Given the description of an element on the screen output the (x, y) to click on. 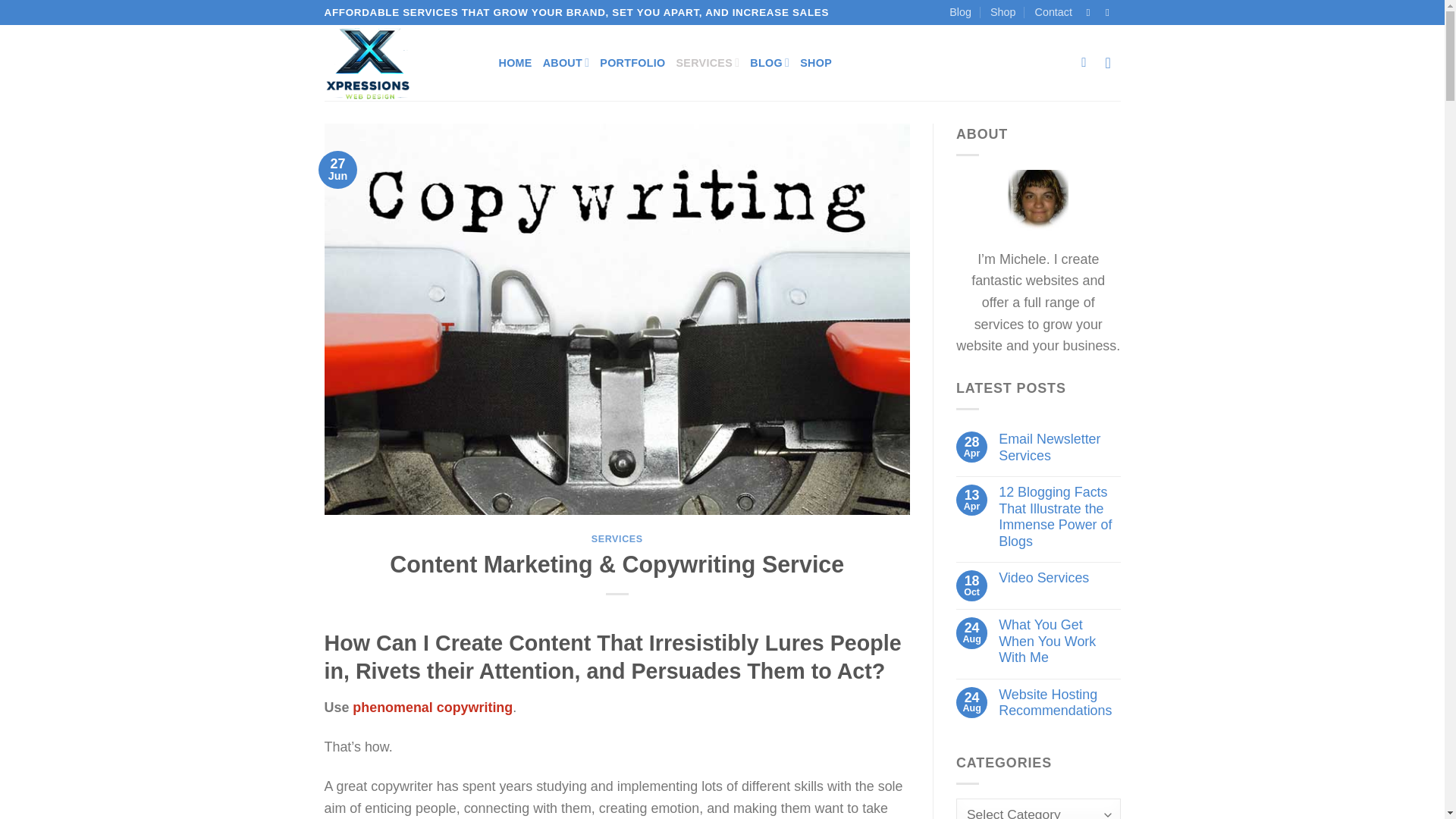
SERVICES (708, 61)
Contact (1053, 12)
Shop (1002, 12)
What You Get When You Work With Me (1058, 641)
HOME (515, 62)
Send us an email (1109, 11)
Follow on Facebook (1090, 11)
ABOUT (566, 61)
Video Services (1058, 578)
PORTFOLIO (632, 62)
SHOP (815, 62)
12 Blogging Facts That Illustrate the Immense Power of Blogs (1058, 516)
BLOG (769, 61)
Email Newsletter Services (1058, 447)
